Given the description of an element on the screen output the (x, y) to click on. 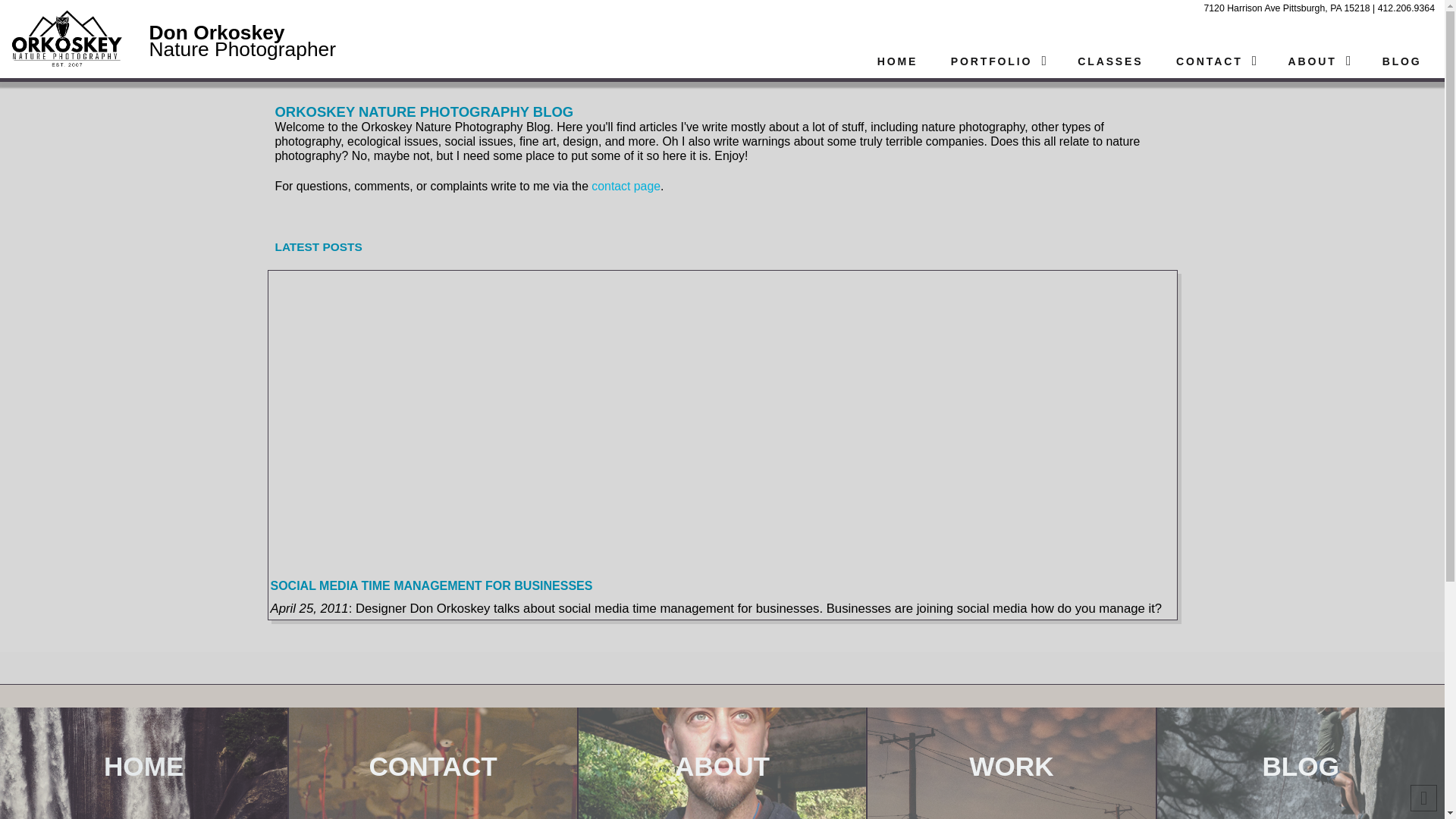
BLOG (1401, 60)
WORK (1010, 763)
CONTACT (1213, 60)
BLOG (1300, 763)
CLASSES (1108, 60)
contact page (626, 185)
Back to Top (1423, 797)
ABOUT (722, 763)
PORTFOLIO (996, 60)
CONTACT (432, 763)
HOME (143, 763)
HOME (896, 60)
ABOUT (1316, 60)
